Given the description of an element on the screen output the (x, y) to click on. 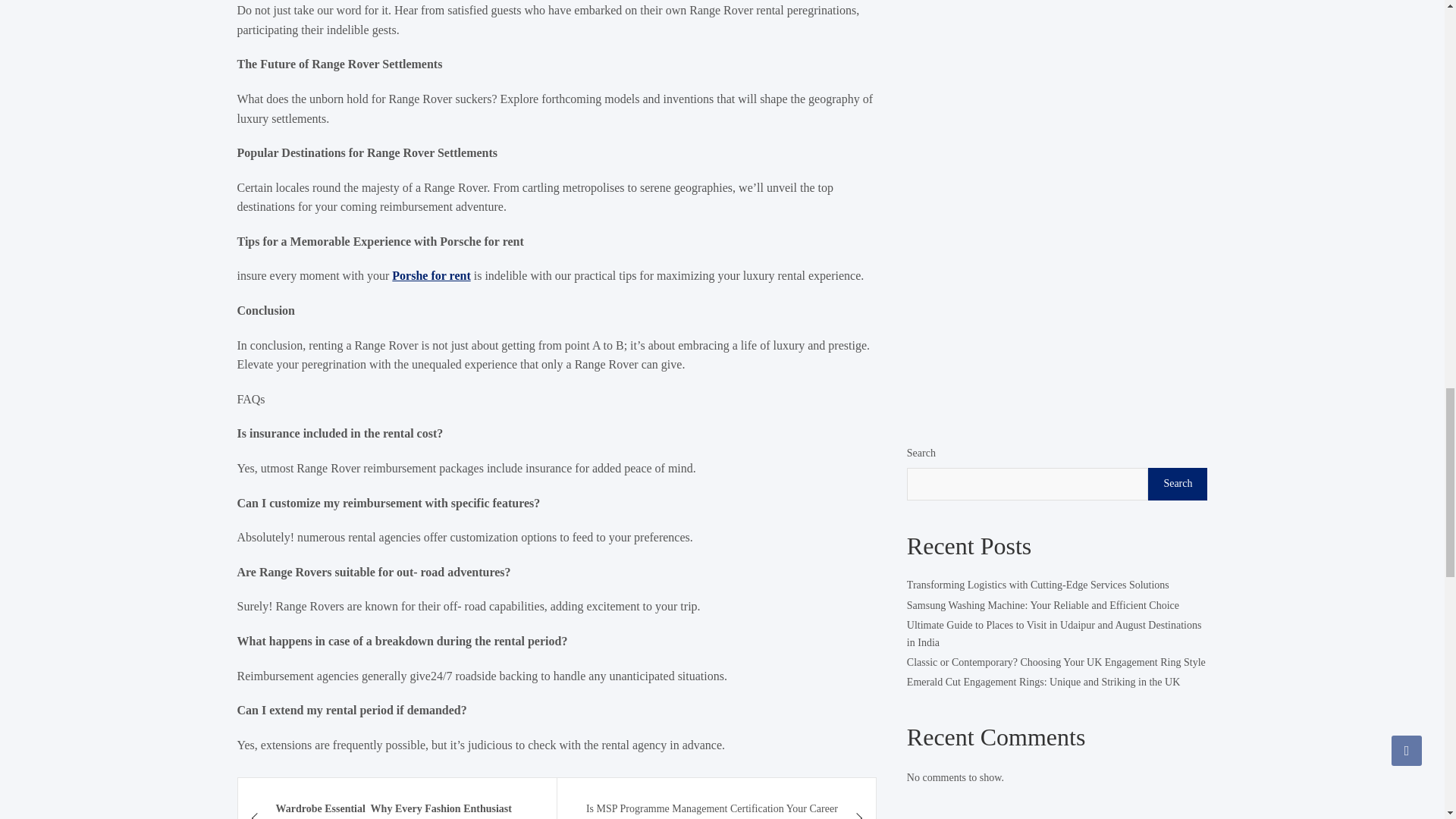
Porshe for rent (430, 275)
